Given the description of an element on the screen output the (x, y) to click on. 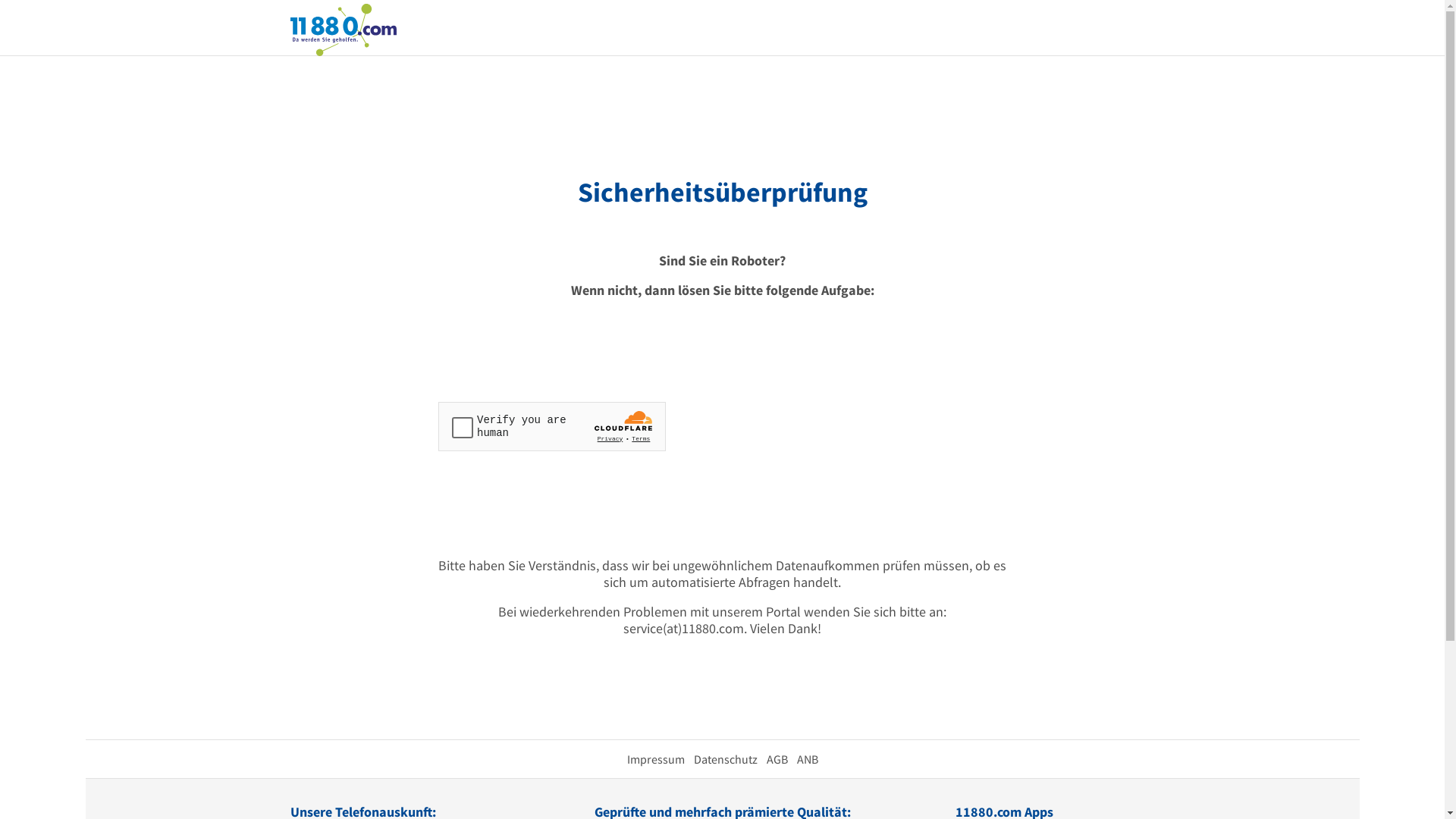
Widget containing a Cloudflare security challenge Element type: hover (551, 426)
Datenschutz Element type: text (724, 758)
ANB Element type: text (806, 758)
AGB Element type: text (776, 758)
11880.com Element type: hover (342, 28)
Impressum Element type: text (655, 758)
